Given the description of an element on the screen output the (x, y) to click on. 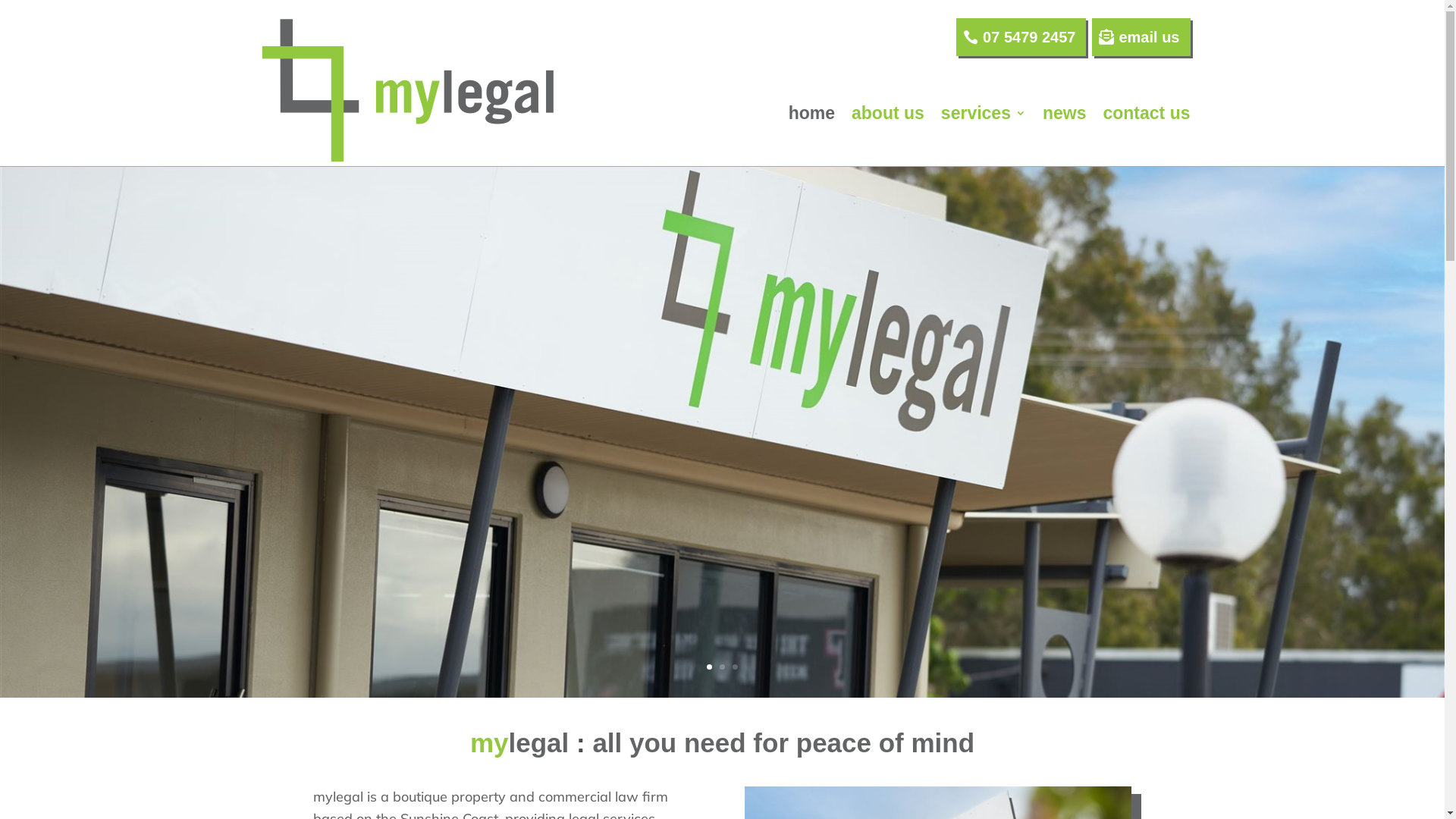
services Element type: text (983, 112)
home Element type: text (811, 112)
07 5479 2457 Element type: text (1020, 37)
news Element type: text (1064, 112)
1 Element type: text (709, 666)
contact us Element type: text (1145, 112)
3 Element type: text (734, 666)
email us Element type: text (1140, 37)
2 Element type: text (721, 666)
about us Element type: text (887, 112)
